Given the description of an element on the screen output the (x, y) to click on. 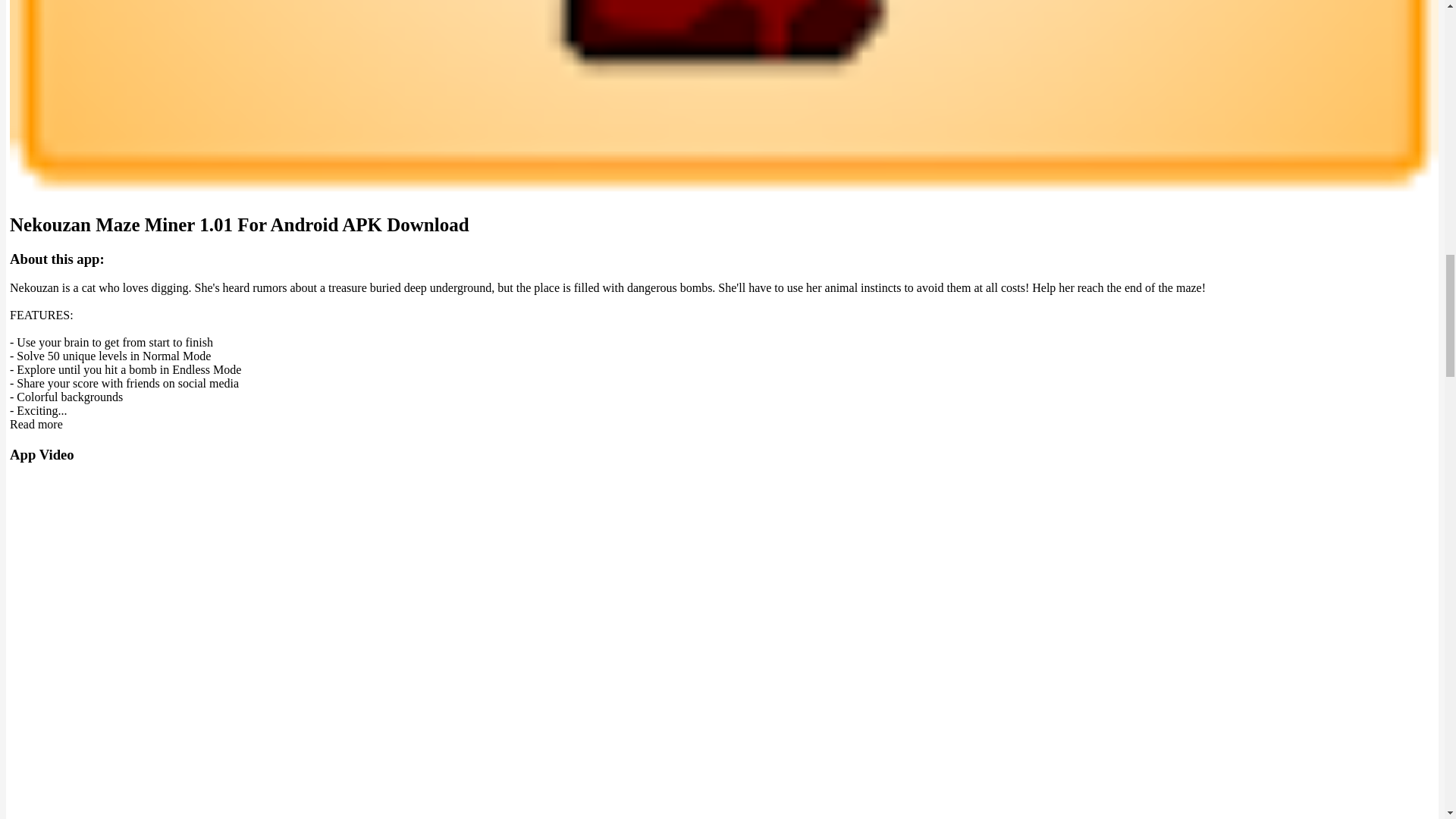
Read more (36, 423)
